Given the description of an element on the screen output the (x, y) to click on. 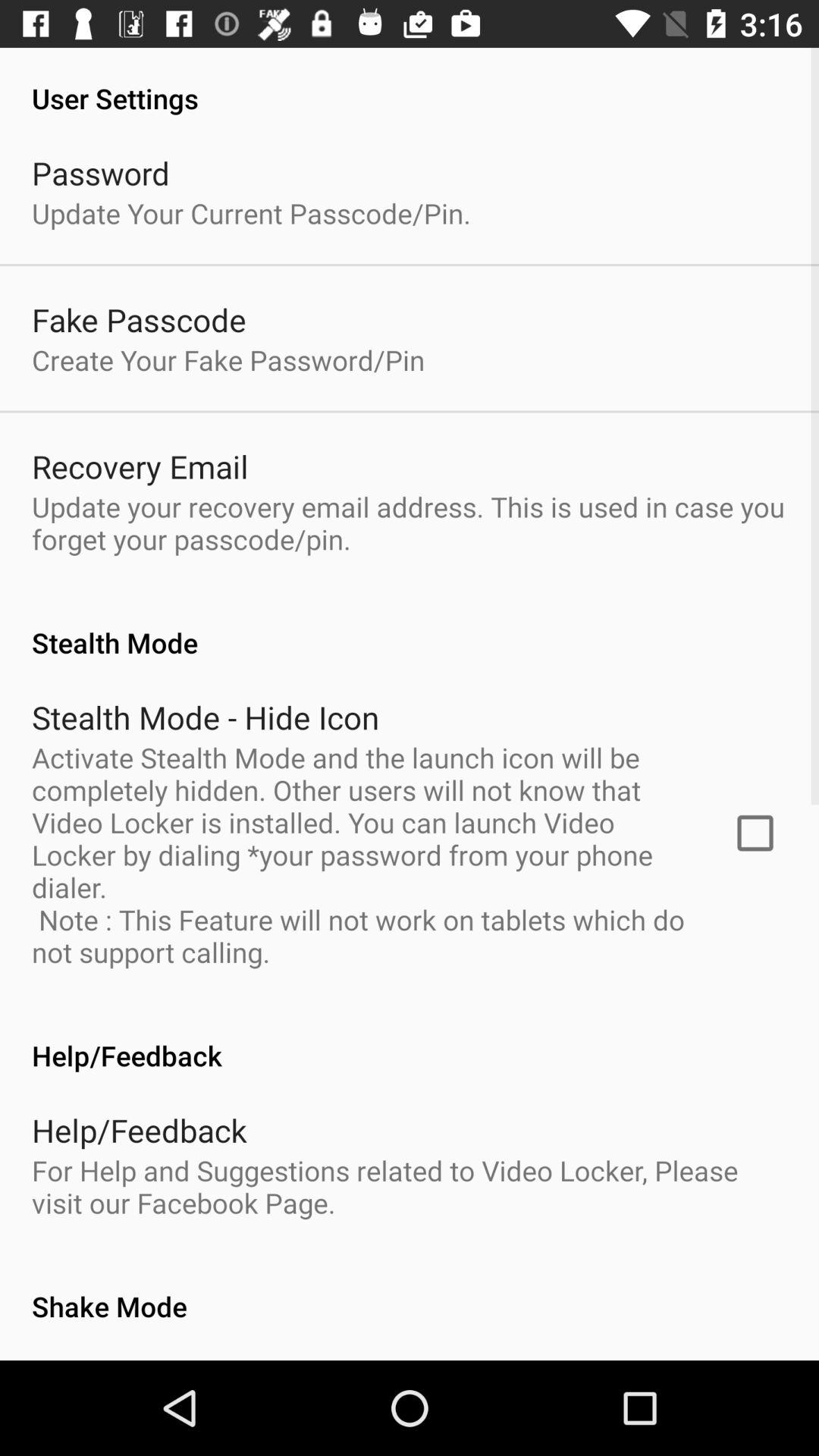
tap item above the help/feedback app (755, 833)
